Given the description of an element on the screen output the (x, y) to click on. 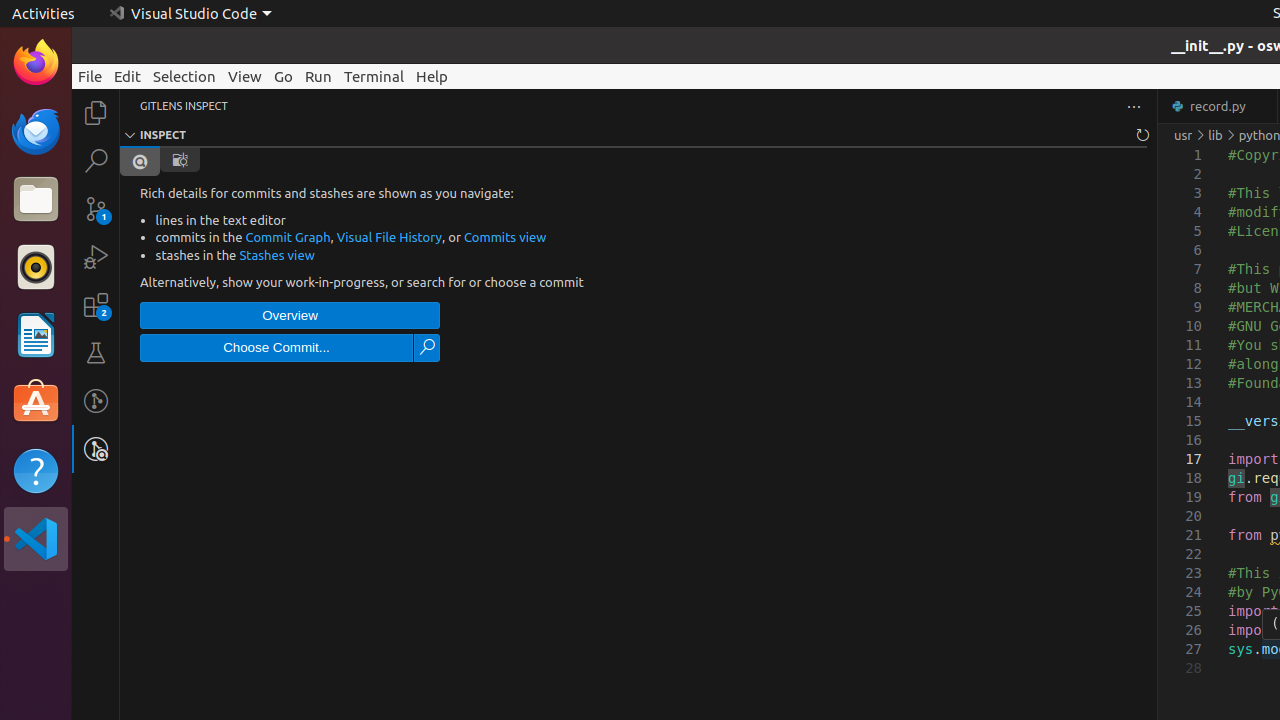
Selection Element type: push-button (184, 76)
GitLens Inspect Element type: page-tab (96, 449)
Run and Debug (Ctrl+Shift+D) Element type: page-tab (96, 257)
Search (Ctrl+Shift+F) Element type: page-tab (96, 160)
